Given the description of an element on the screen output the (x, y) to click on. 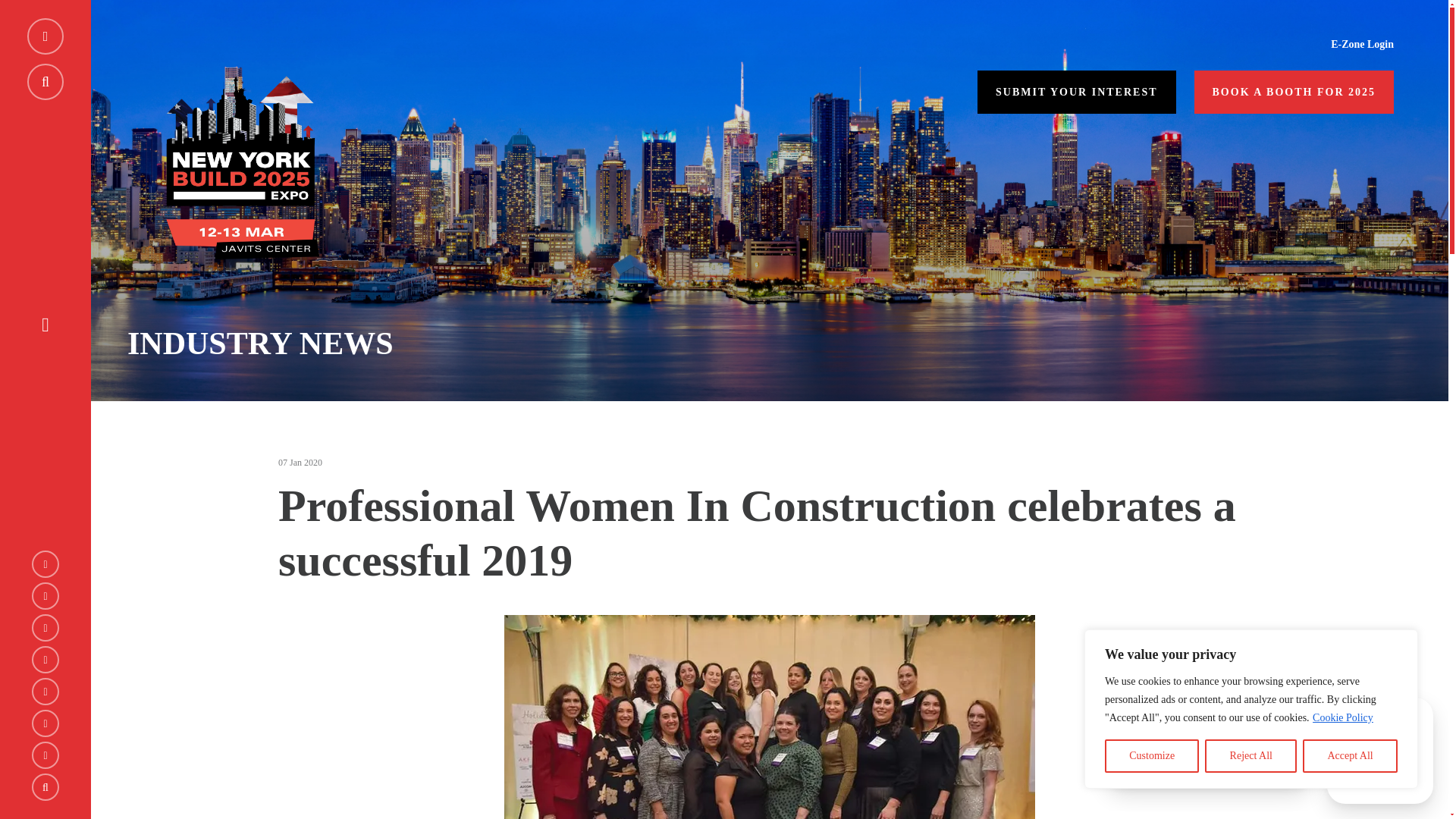
Customize (1151, 756)
Reject All (1251, 756)
Cookie Policy (1342, 717)
Accept All (1350, 756)
